Given the description of an element on the screen output the (x, y) to click on. 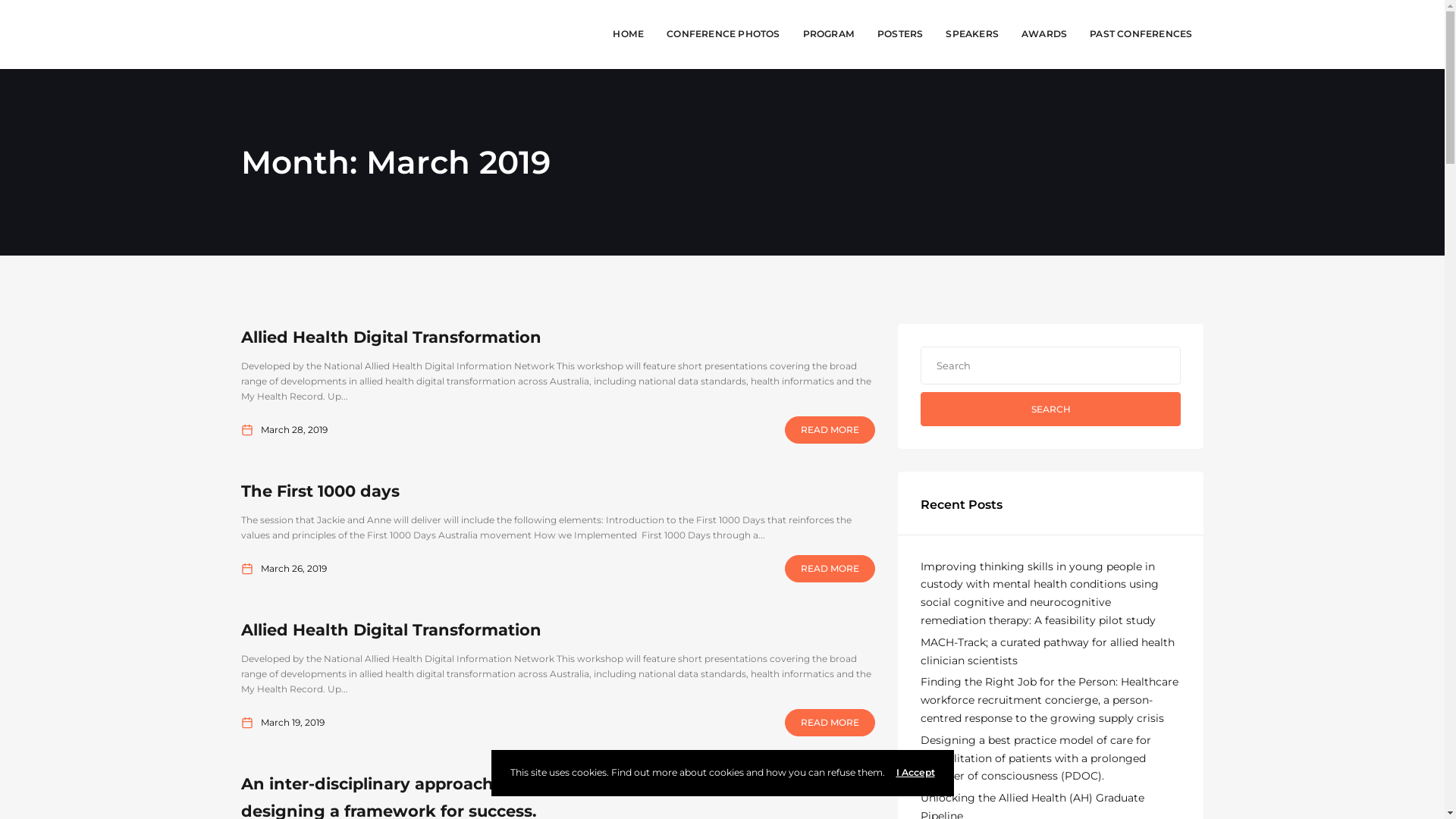
SEARCH Element type: text (1050, 409)
Allied Health Digital Transformation Element type: text (391, 629)
READ MORE Element type: text (829, 568)
READ MORE Element type: text (829, 722)
AWARDS Element type: text (1044, 34)
SPEAKERS Element type: text (972, 34)
CONFERENCE PHOTOS Element type: text (722, 34)
PAST CONFERENCES Element type: text (1140, 34)
Allied Health Digital Transformation Element type: text (391, 336)
READ MORE Element type: text (829, 429)
POSTERS Element type: text (900, 34)
I Accept Element type: text (915, 772)
The First 1000 days Element type: text (320, 490)
PROGRAM Element type: text (828, 34)
HOME Element type: text (628, 34)
